Given the description of an element on the screen output the (x, y) to click on. 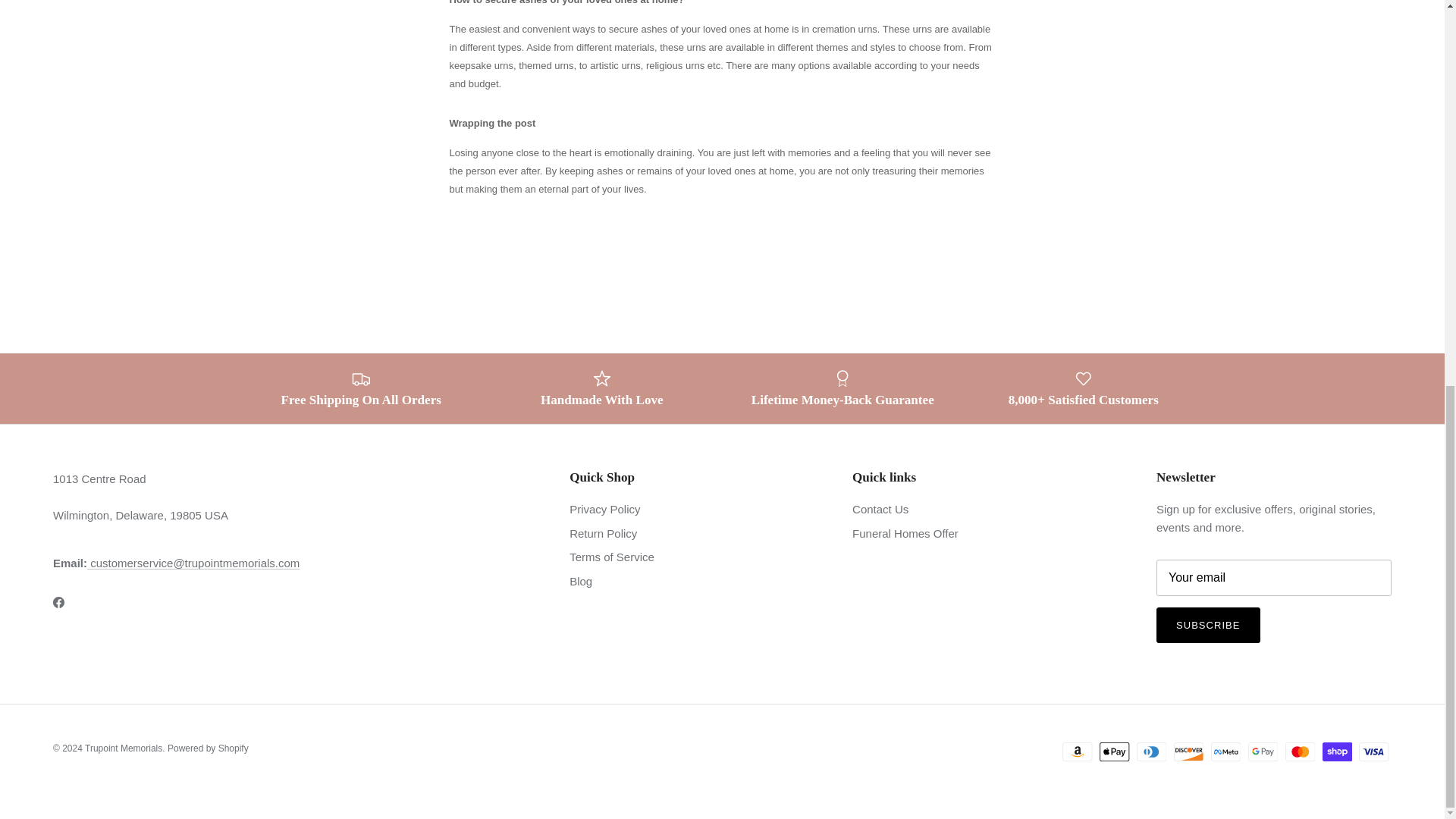
Google Pay (1262, 751)
Shop Pay (1337, 751)
Mastercard (1299, 751)
Trupoint Memorials on Facebook (58, 602)
Meta Pay (1225, 751)
Diners Club (1151, 751)
Amazon (1077, 751)
Visa (1373, 751)
Apple Pay (1114, 751)
Discover (1188, 751)
